Given the description of an element on the screen output the (x, y) to click on. 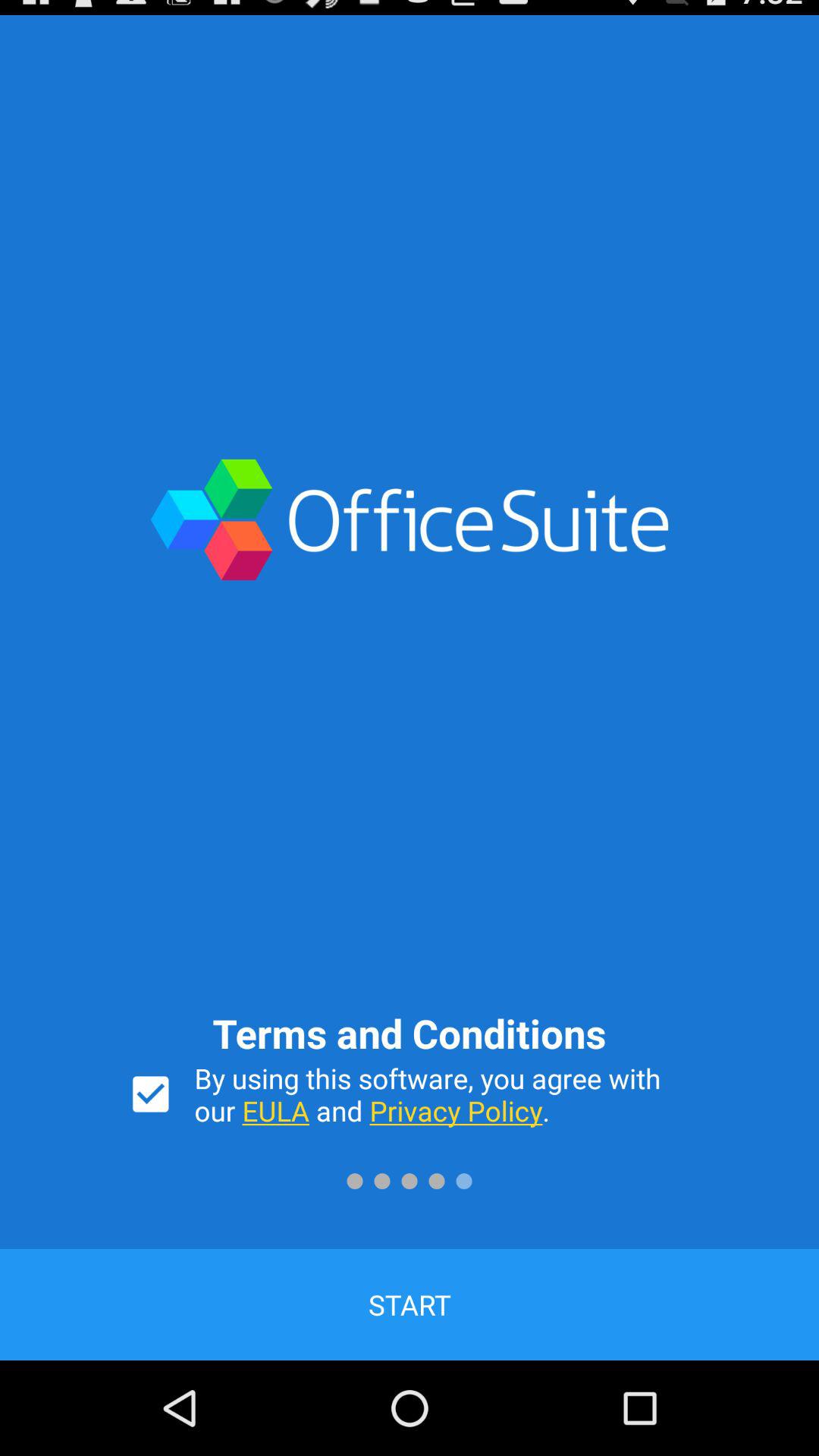
click item above the start button (150, 1093)
